Given the description of an element on the screen output the (x, y) to click on. 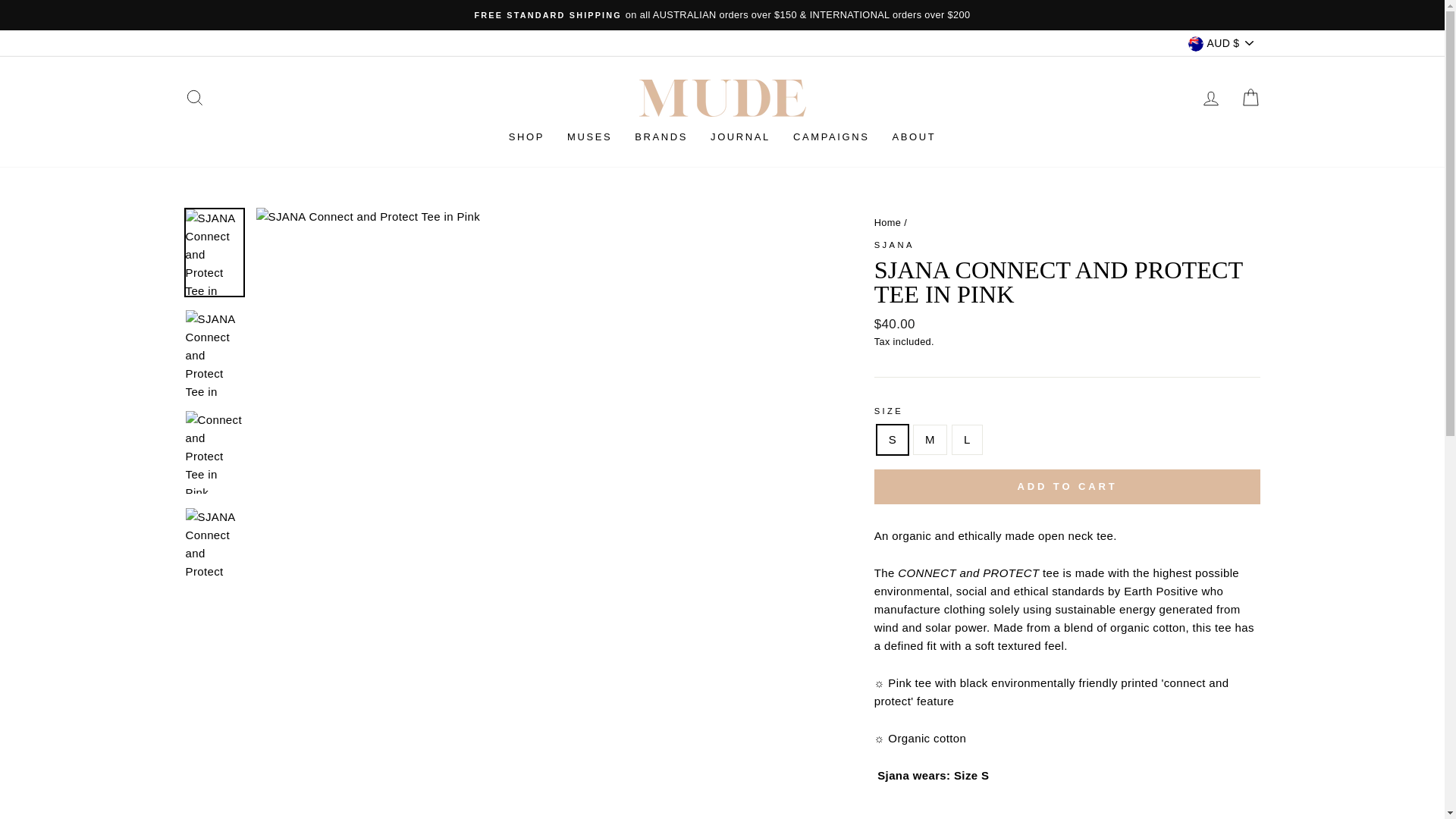
SJANA (894, 244)
Back to the frontpage (888, 222)
